Given the description of an element on the screen output the (x, y) to click on. 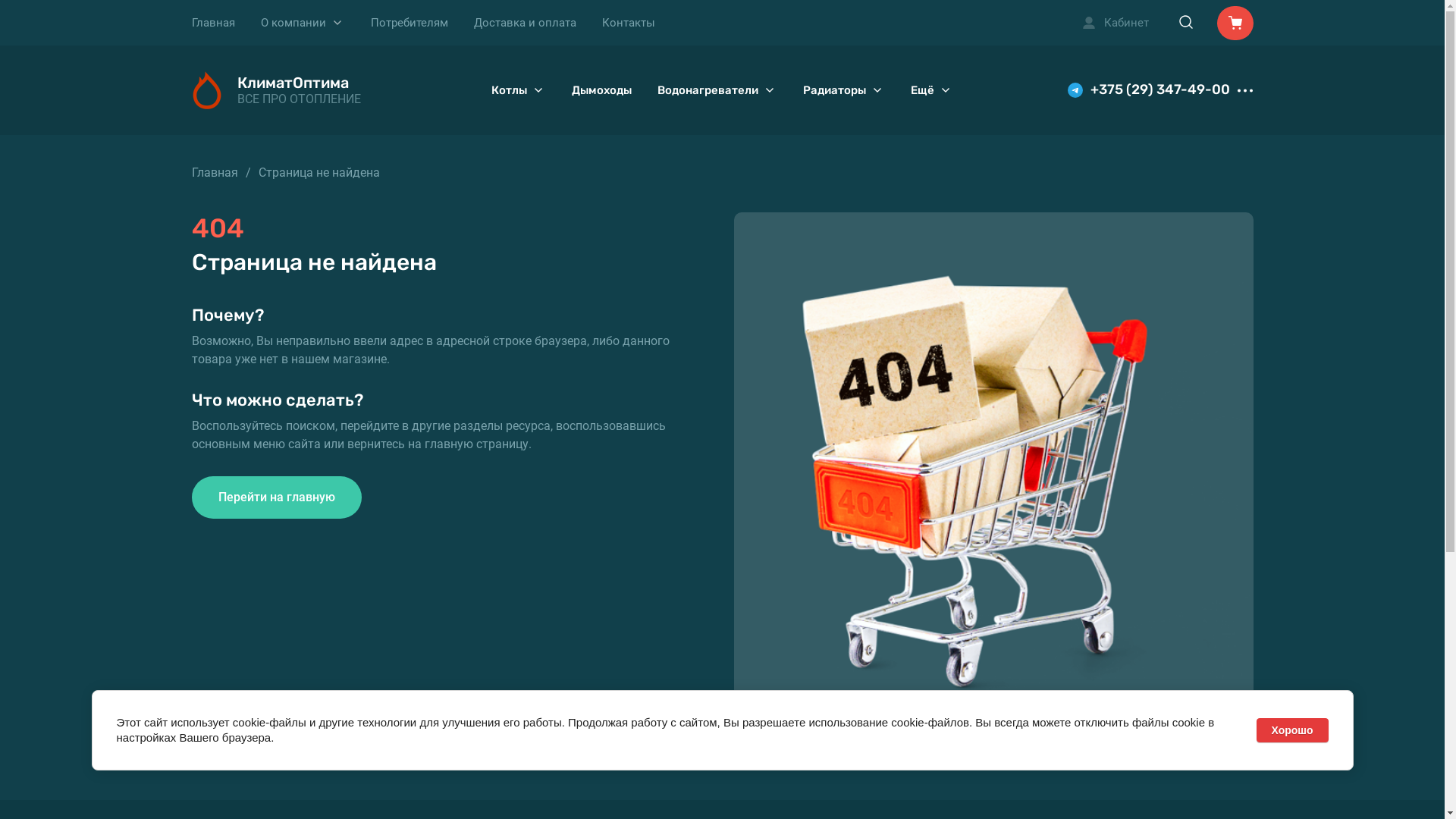
+375 (29) 347-49-00 Element type: text (1160, 89)
